Given the description of an element on the screen output the (x, y) to click on. 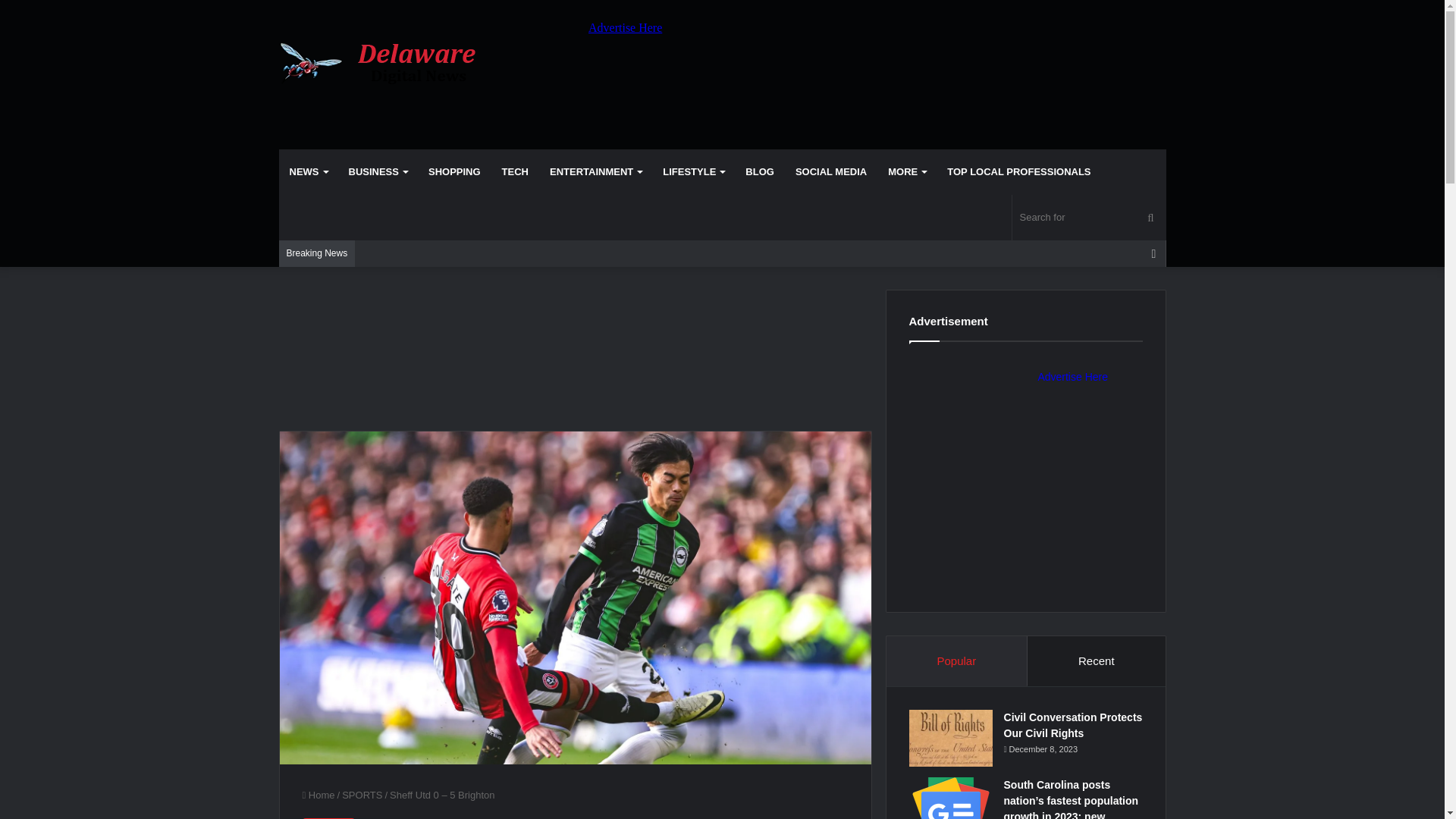
Search for (1088, 217)
TECH (515, 171)
LIFESTYLE (693, 171)
TOP LOCAL PROFESSIONALS (1018, 171)
BLOG (759, 171)
SOCIAL MEDIA (830, 171)
BUSINESS (377, 171)
MORE (906, 171)
SHOPPING (454, 171)
Search for (1150, 217)
Random Article (1152, 253)
NEWS (308, 171)
ENTERTAINMENT (595, 171)
Delaware Digital News (383, 63)
